Given the description of an element on the screen output the (x, y) to click on. 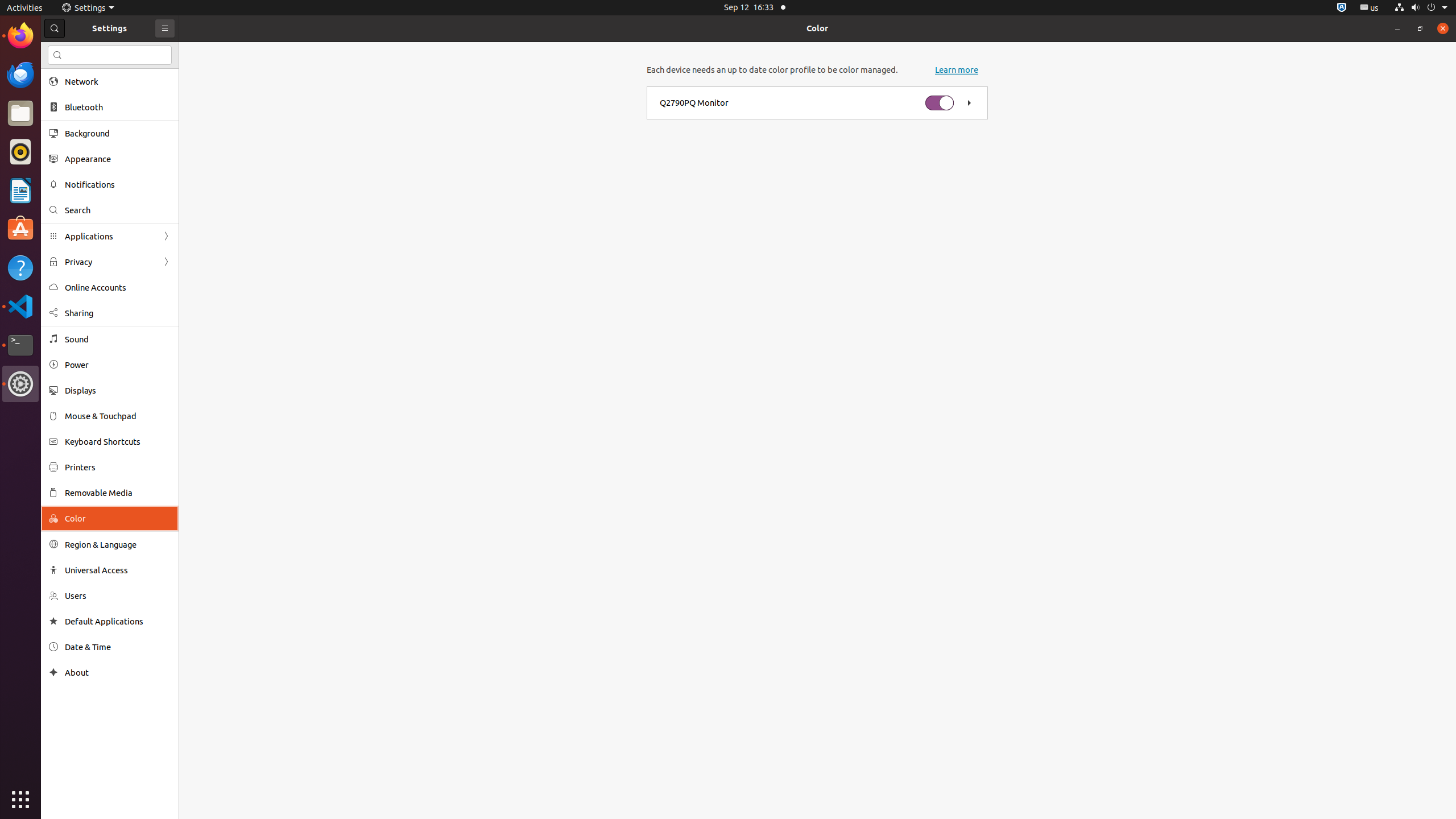
Learn more Element type: push-button (956, 69)
edit-find-symbolic Element type: icon (56, 54)
Online Accounts Element type: label (117, 287)
